Given the description of an element on the screen output the (x, y) to click on. 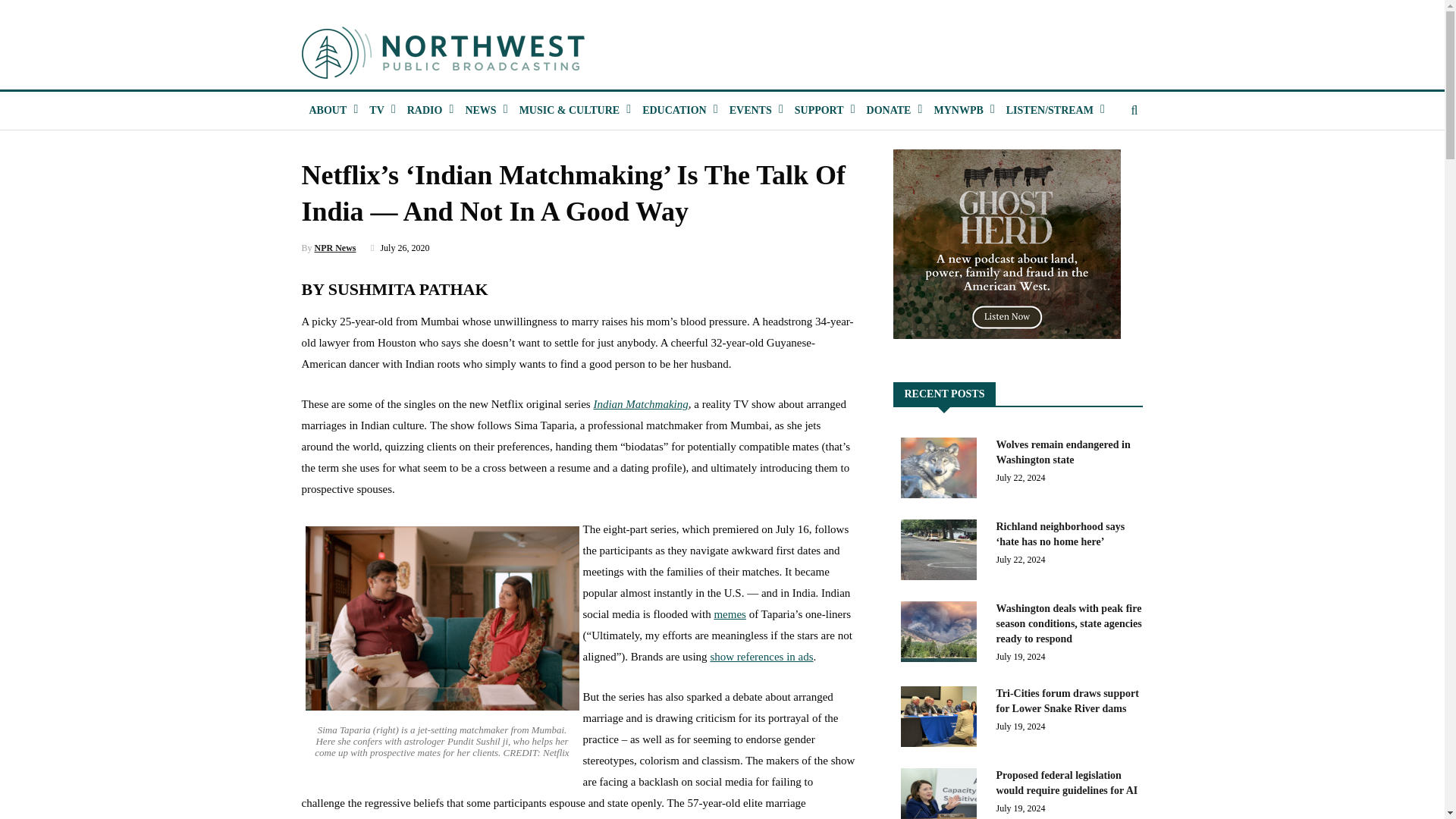
TV (376, 110)
RADIO (425, 110)
Donate Button (889, 110)
ABOUT (327, 110)
NEWS (479, 110)
logo (443, 52)
